Given the description of an element on the screen output the (x, y) to click on. 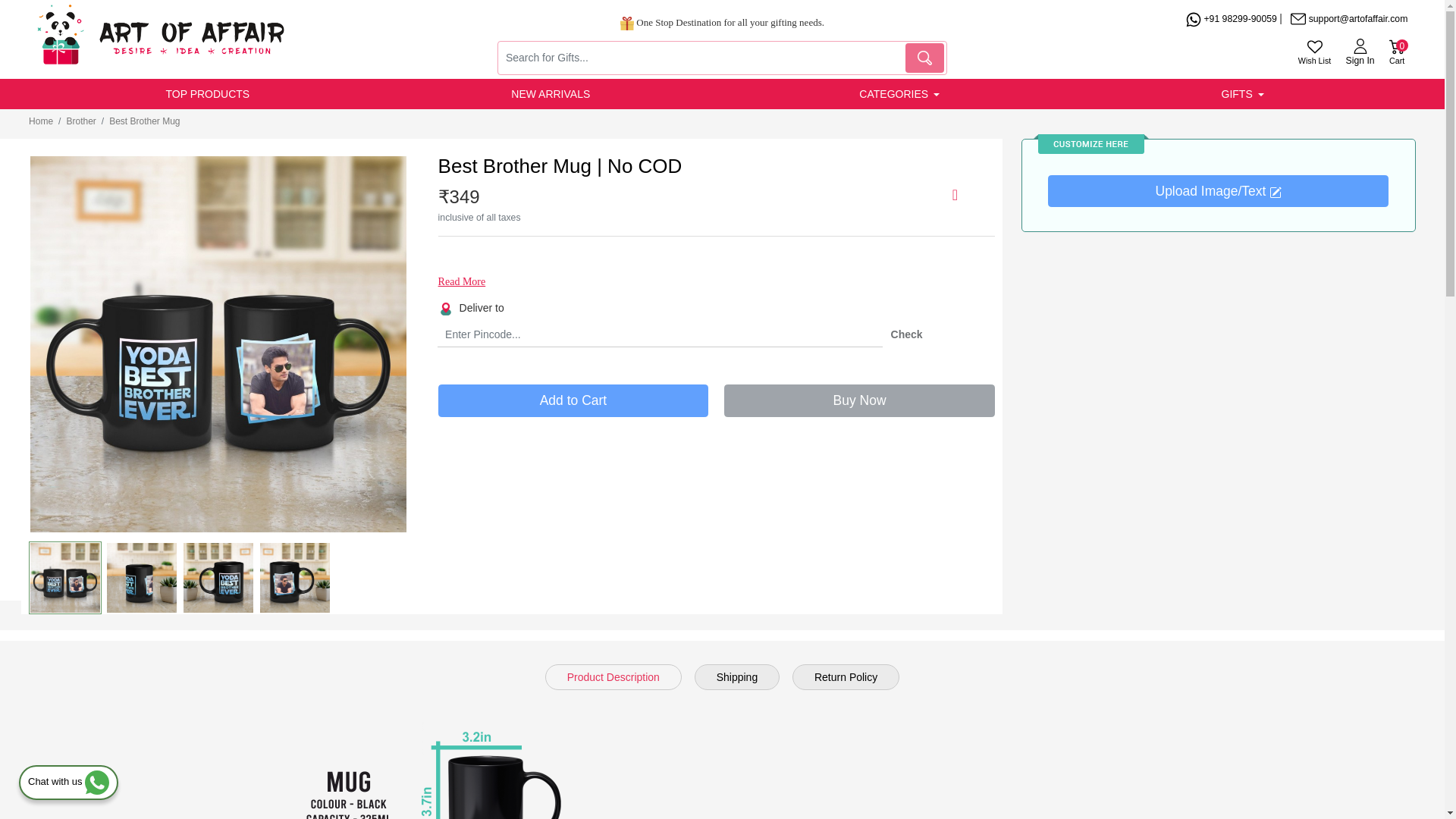
CATEGORIES (1397, 52)
NEW ARRIVALS (893, 93)
Wish List (550, 93)
TOP PRODUCTS (1314, 52)
GIFTS (207, 93)
Sign In (1236, 93)
